Given the description of an element on the screen output the (x, y) to click on. 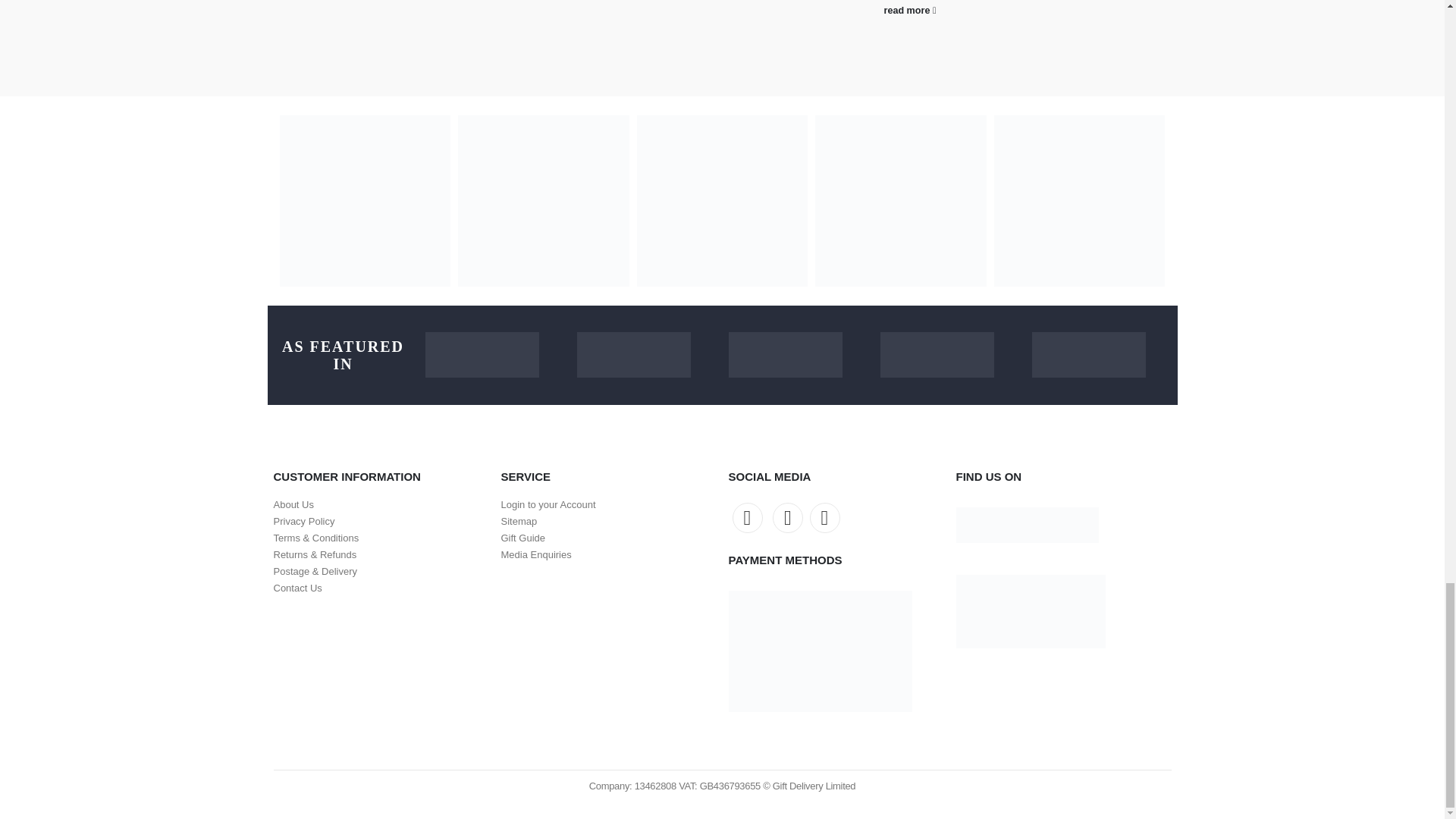
martha-stewart-logo (784, 354)
the-sun-web-white (481, 354)
hello-magzine-white-web-2 (633, 354)
